Given the description of an element on the screen output the (x, y) to click on. 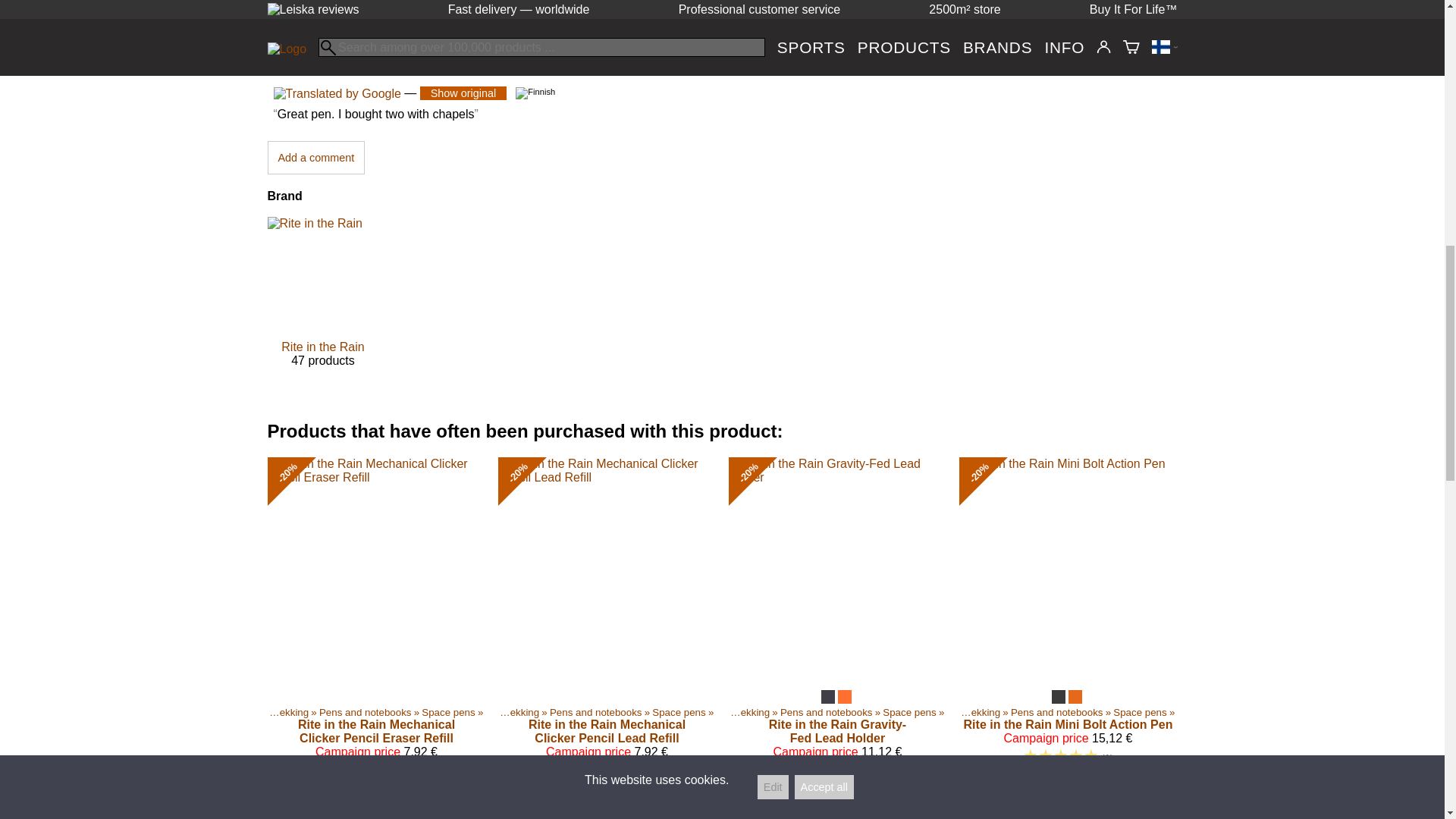
Italian (322, 305)
Add a comment (532, 1)
Finnish (315, 157)
